Given the description of an element on the screen output the (x, y) to click on. 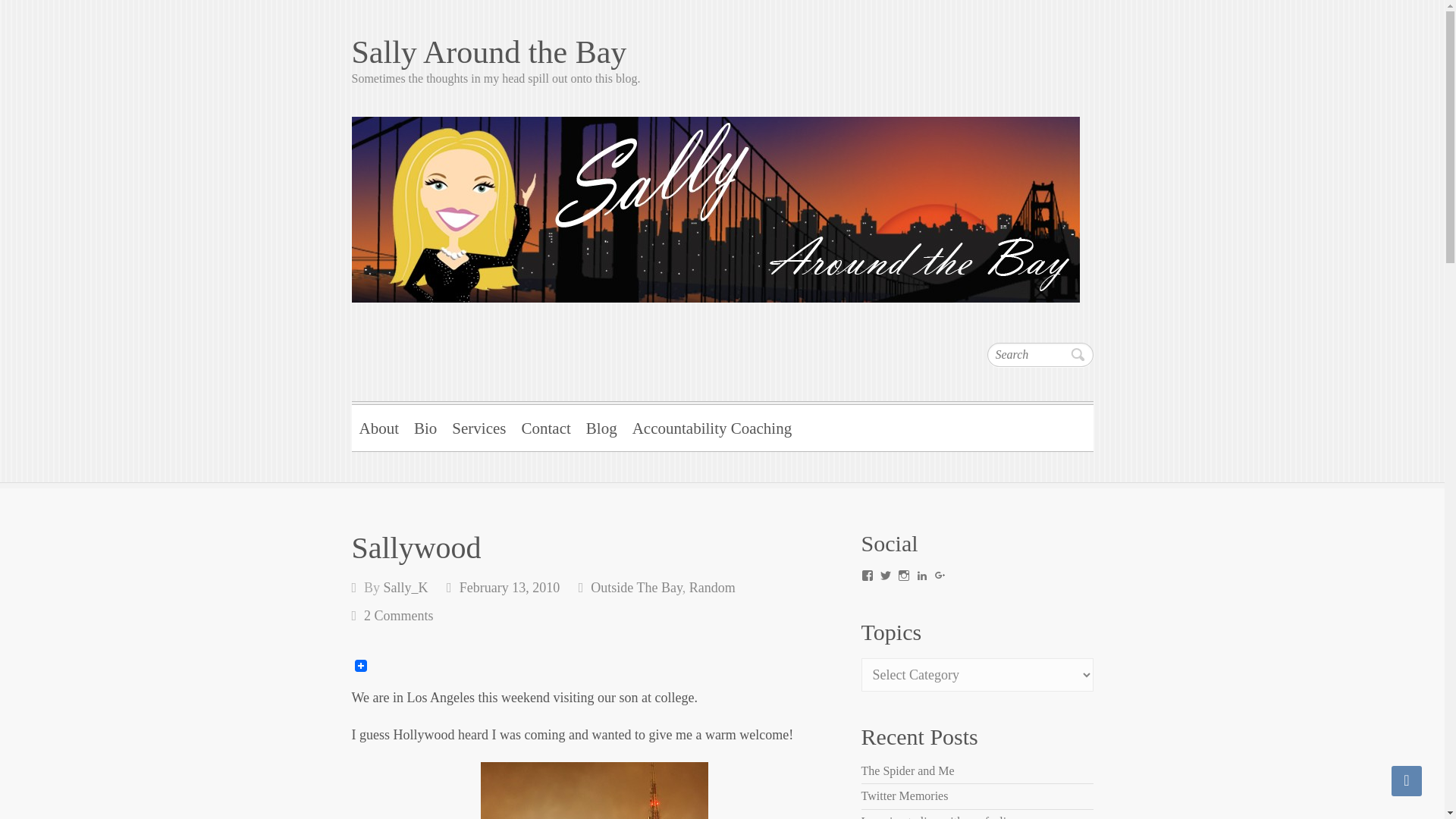
February 13, 2010 (509, 587)
11:11 am (509, 587)
Sally Around the Bay (722, 52)
Sally Around the Bay (722, 52)
Blog (601, 426)
Bio (425, 426)
Services (478, 426)
Accountability Coaching (711, 426)
Contact (545, 426)
SallyWood (593, 790)
Outside The Bay (636, 587)
2 Comments (398, 615)
Random (711, 587)
About (379, 426)
